Given the description of an element on the screen output the (x, y) to click on. 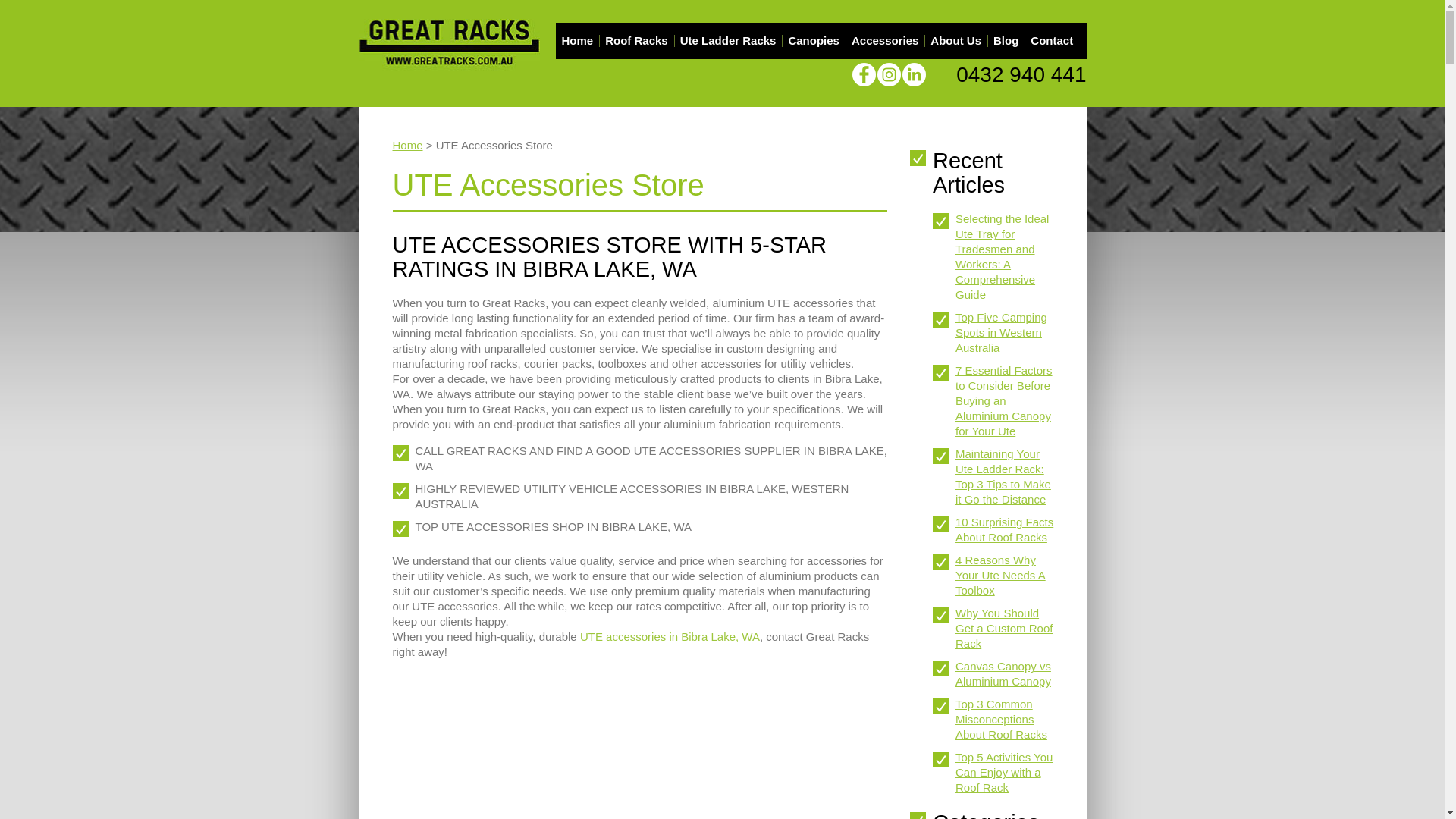
Top Five Camping Spots in Western Australia Element type: text (1001, 332)
Canopies Element type: text (813, 40)
Roof Racks Element type: text (636, 40)
10 Surprising Facts About Roof Racks Element type: text (1004, 529)
Top 3 Common Misconceptions About Roof Racks Element type: text (1001, 718)
UTE accessories in Bibra Lake, WA Element type: text (669, 636)
Contact Element type: text (1051, 40)
Accessories Element type: text (884, 40)
Home Element type: text (407, 144)
Canvas Canopy vs Aluminium Canopy Element type: text (1003, 673)
About Us Element type: text (955, 40)
Ute Ladder Racks Element type: text (728, 40)
Blog Element type: text (1005, 40)
Why You Should Get a Custom Roof Rack Element type: text (1003, 627)
Home Element type: text (577, 40)
Great Racks Element type: hover (448, 43)
4 Reasons Why Your Ute Needs A Toolbox Element type: text (1000, 574)
Top 5 Activities You Can Enjoy with a Roof Rack Element type: text (1003, 771)
0432 940 441 Element type: text (1020, 75)
